Given the description of an element on the screen output the (x, y) to click on. 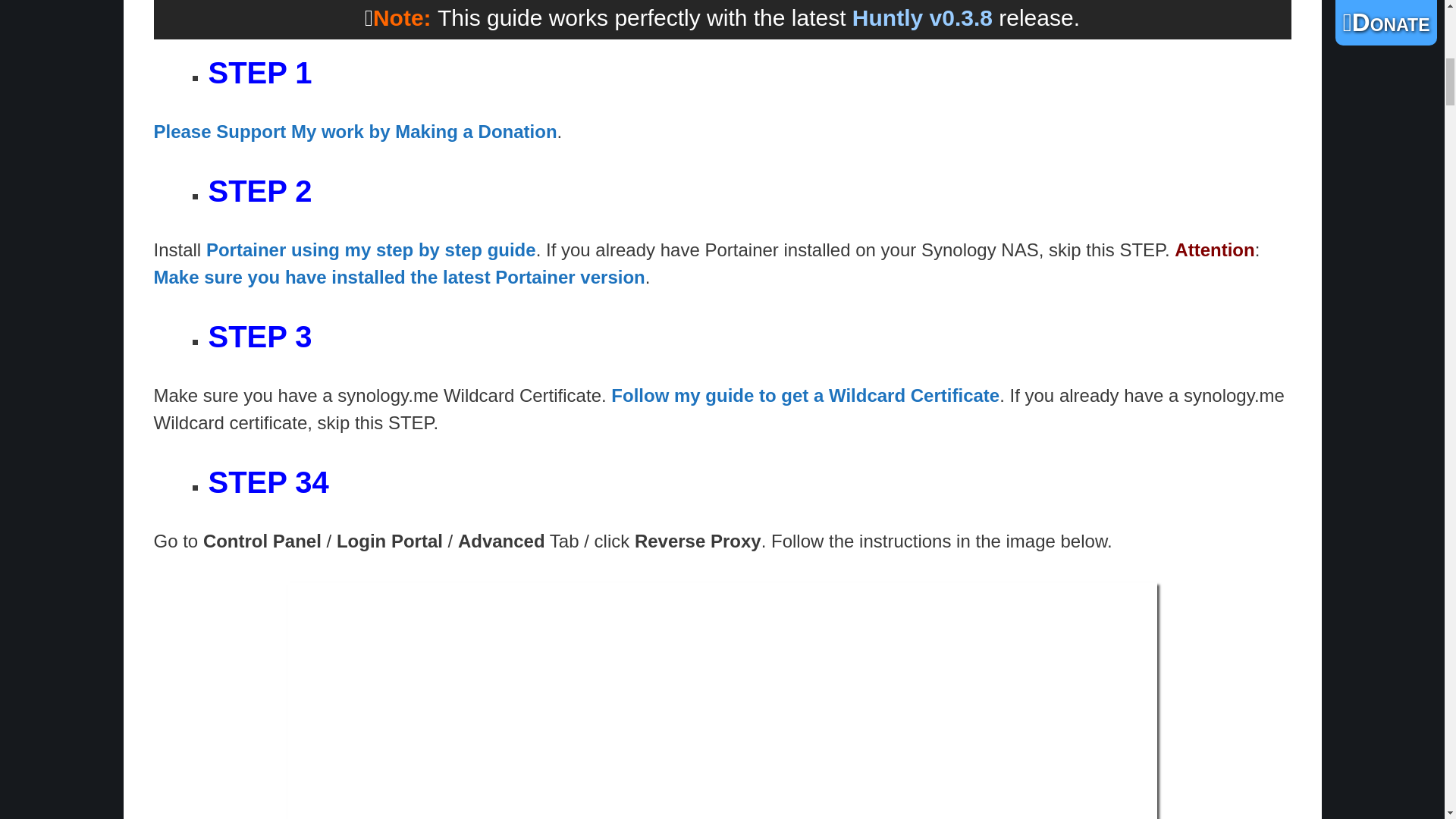
Make sure you have installed the latest Portainer version (398, 276)
Scroll back to top (1406, 720)
Portainer using my step by step guide (370, 249)
Follow my guide to get a Wildcard Certificate (804, 394)
Huntly v0.3.8 (921, 17)
Please Support My work by Making a Donation (354, 131)
